Given the description of an element on the screen output the (x, y) to click on. 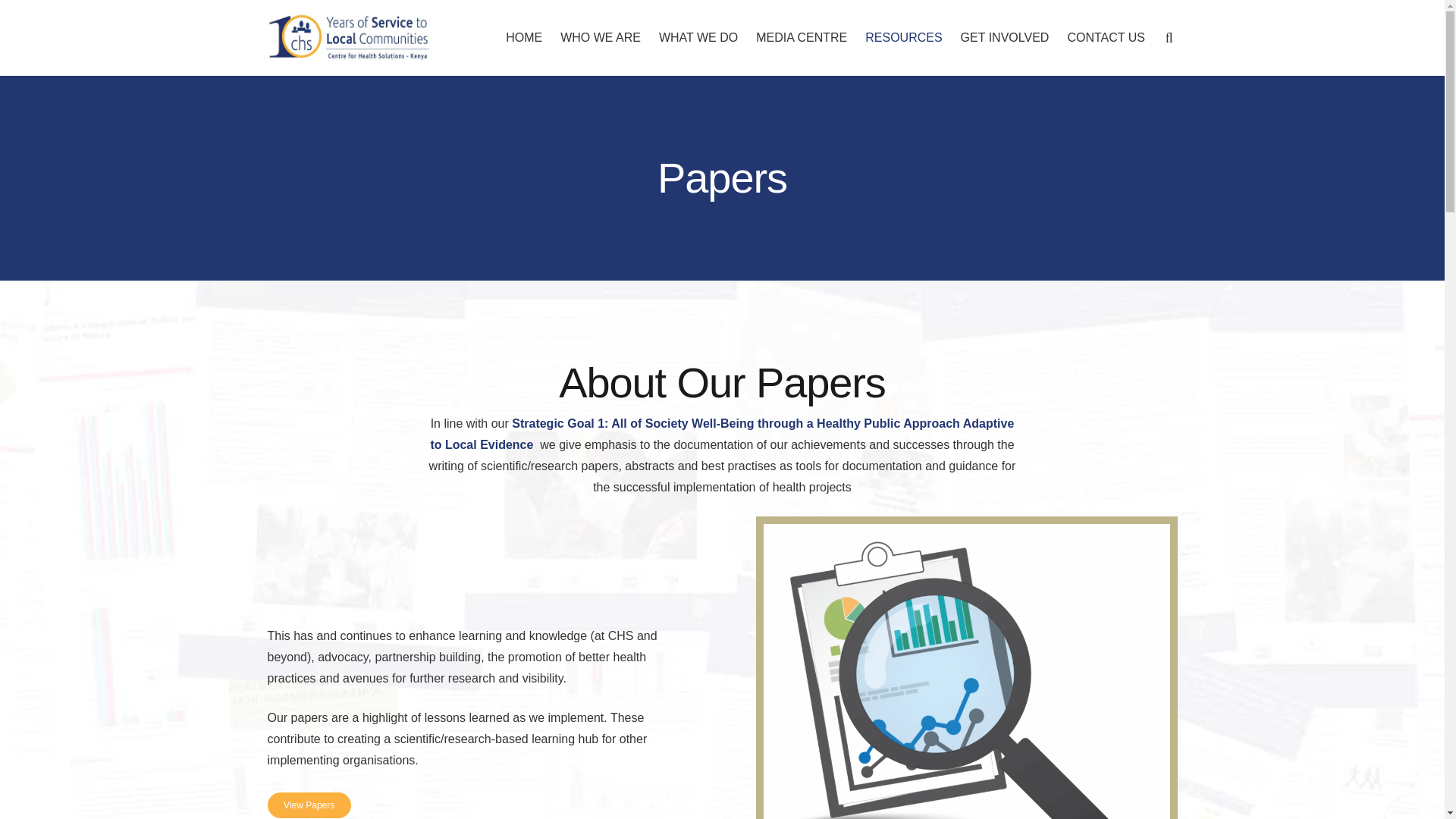
Papers (308, 805)
Page 2 (477, 739)
WHAT WE DO (697, 38)
WHO WE ARE (600, 38)
